Given the description of an element on the screen output the (x, y) to click on. 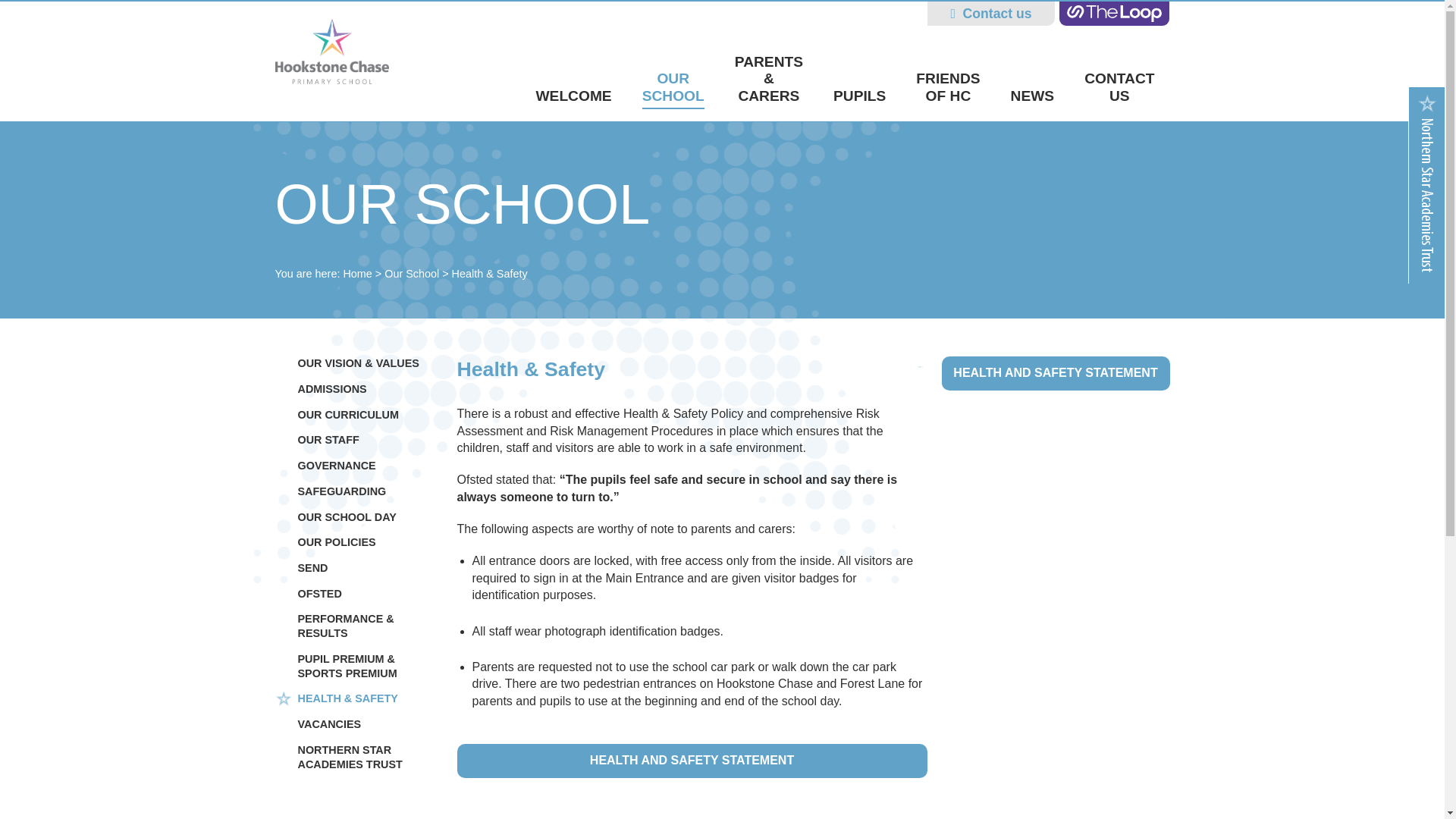
  Contact us (990, 13)
WELCOME (573, 95)
OUR SCHOOL (673, 89)
FRIENDS OF HC (947, 87)
PUPILS (858, 95)
